Given the description of an element on the screen output the (x, y) to click on. 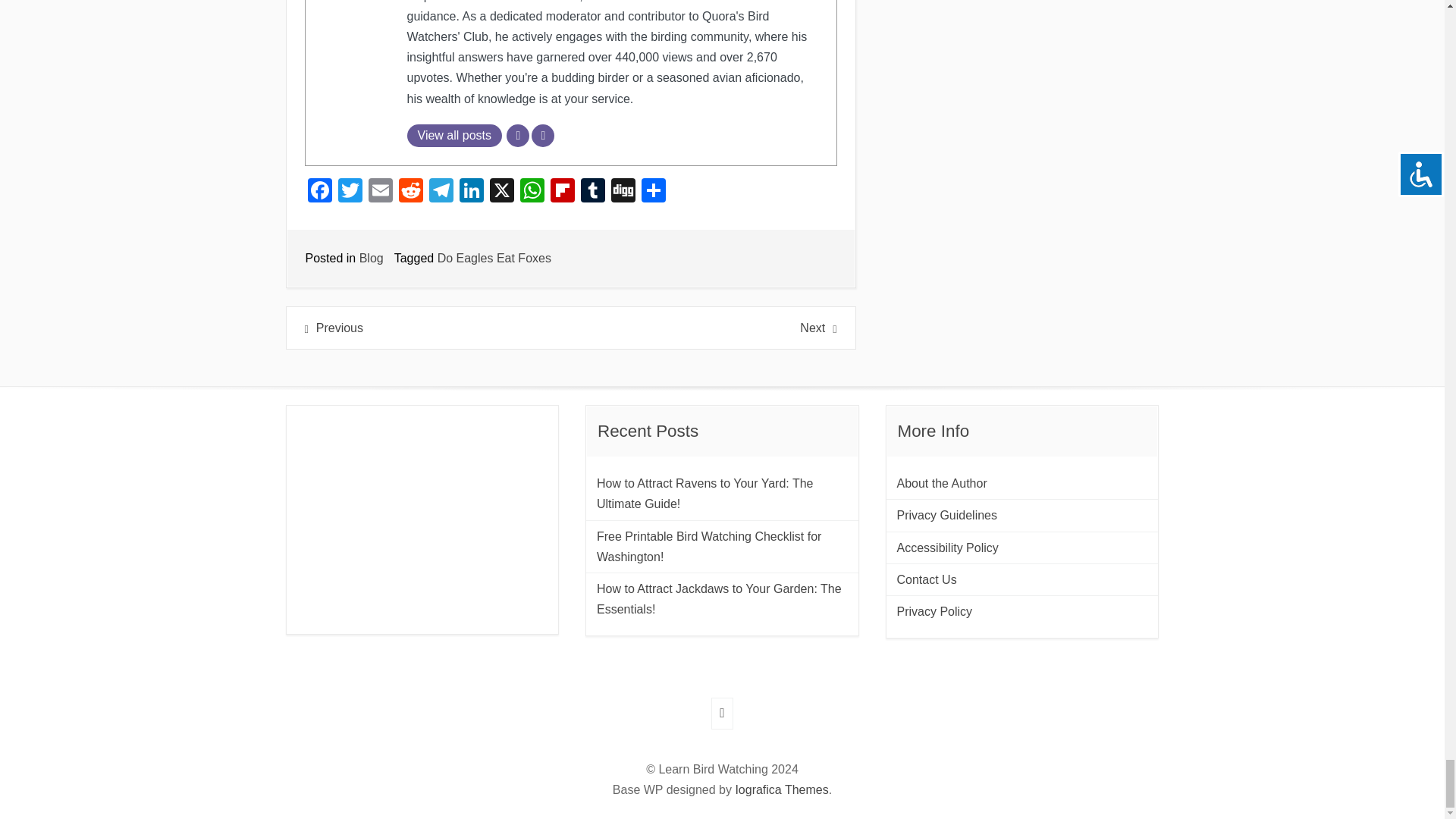
Email (380, 192)
Digg (623, 192)
Facebook (319, 192)
Reddit (411, 192)
X (501, 192)
Flipboard (562, 192)
Tumblr (593, 192)
Twitter (349, 192)
WhatsApp (531, 192)
Telegram (441, 192)
